Given the description of an element on the screen output the (x, y) to click on. 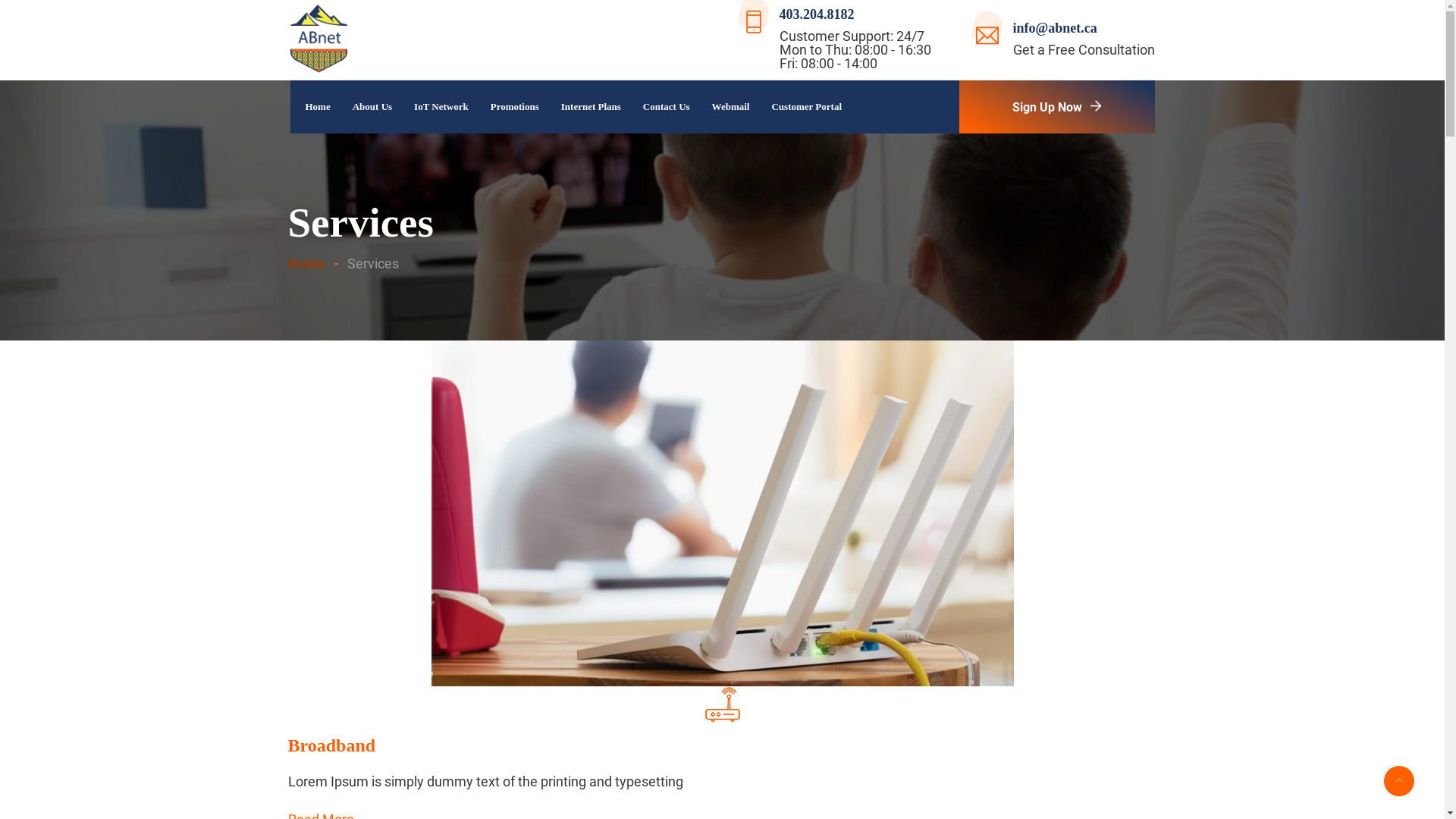
info@abnet.ca Element type: text (1055, 27)
Sign Up Now Element type: text (1056, 106)
Promotions Element type: text (510, 106)
About Us Element type: text (367, 106)
Customer Portal Element type: text (802, 106)
Contact Us Element type: text (661, 106)
403.204.8182 Element type: text (816, 13)
IoT Network Element type: text (436, 106)
ABnet Element type: hover (318, 40)
Home Element type: text (320, 106)
Webmail Element type: text (726, 106)
Home Element type: text (316, 263)
Internet Plans Element type: text (586, 106)
Broadband Element type: text (332, 745)
